Given the description of an element on the screen output the (x, y) to click on. 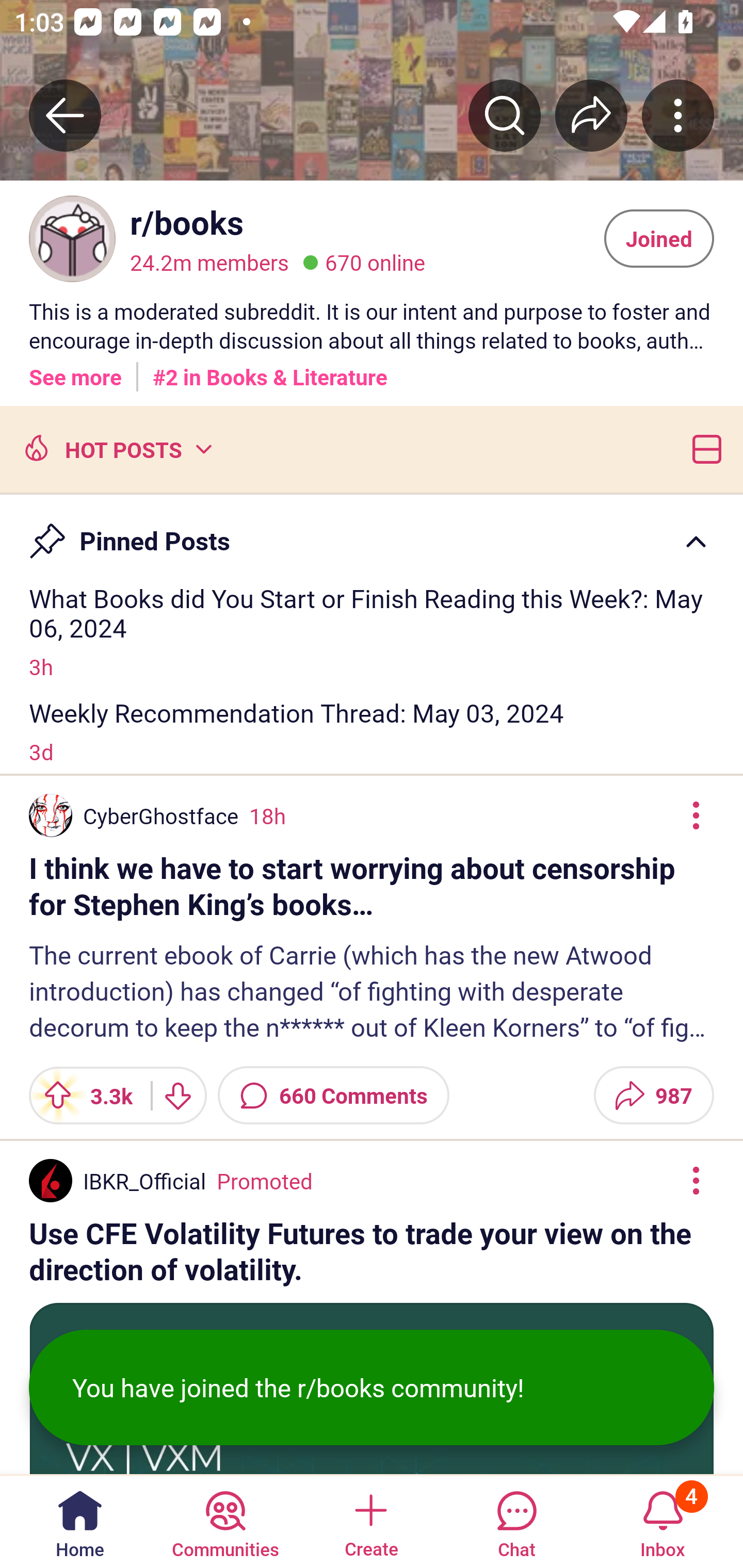
Back (64, 115)
Search r/﻿books (504, 115)
Share r/﻿books (591, 115)
More community actions (677, 115)
Hot posts HOT POSTS (116, 448)
Card (703, 448)
Pin Pinned Posts Caret (371, 531)
Weekly Recommendation Thread: May 03, 2024 3d (371, 731)
Home (80, 1520)
Communities (225, 1520)
Create a post Create (370, 1520)
Chat (516, 1520)
Inbox, has 4 notifications 4 Inbox (662, 1520)
